Given the description of an element on the screen output the (x, y) to click on. 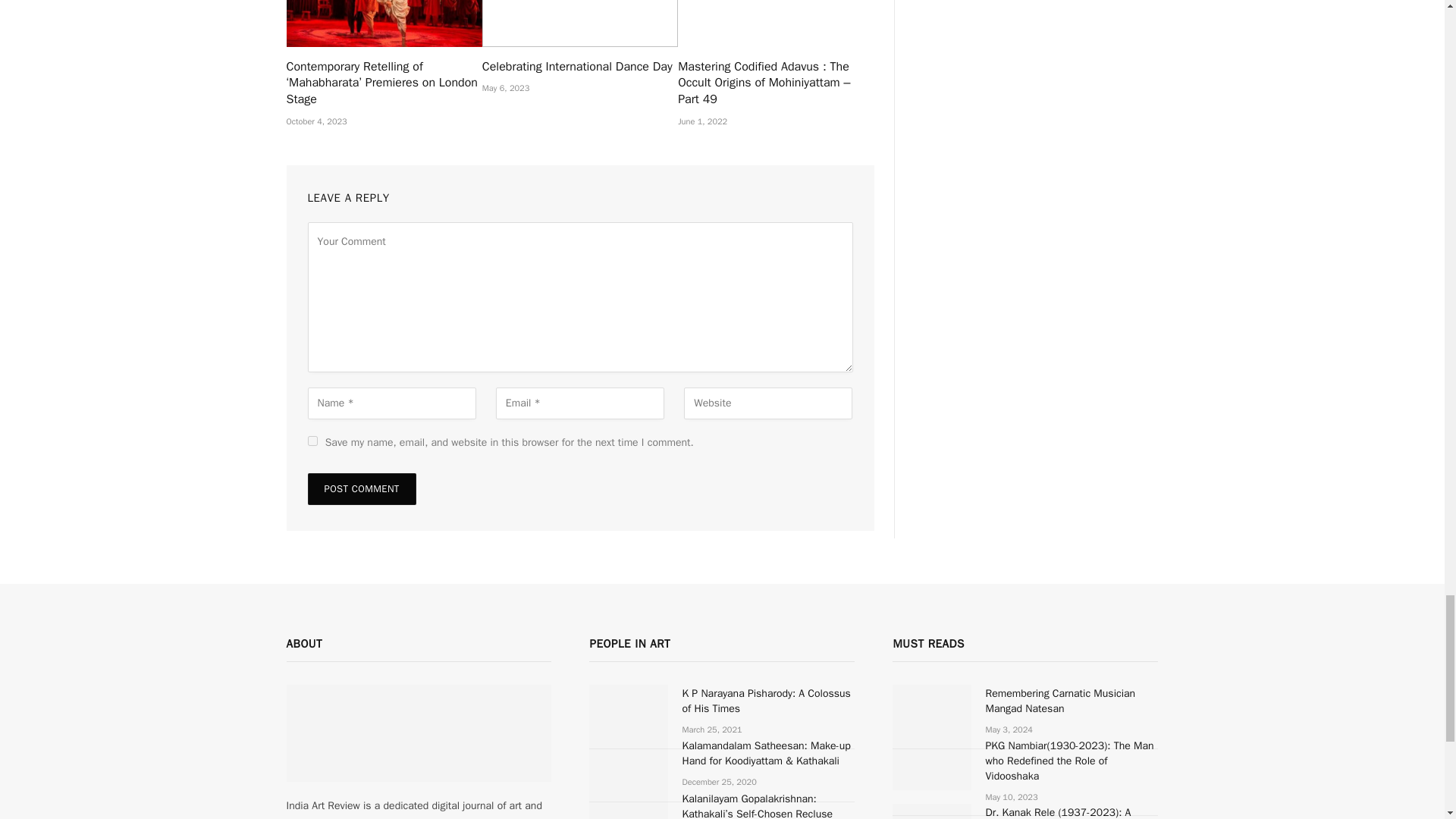
Post Comment (361, 489)
yes (312, 440)
